Given the description of an element on the screen output the (x, y) to click on. 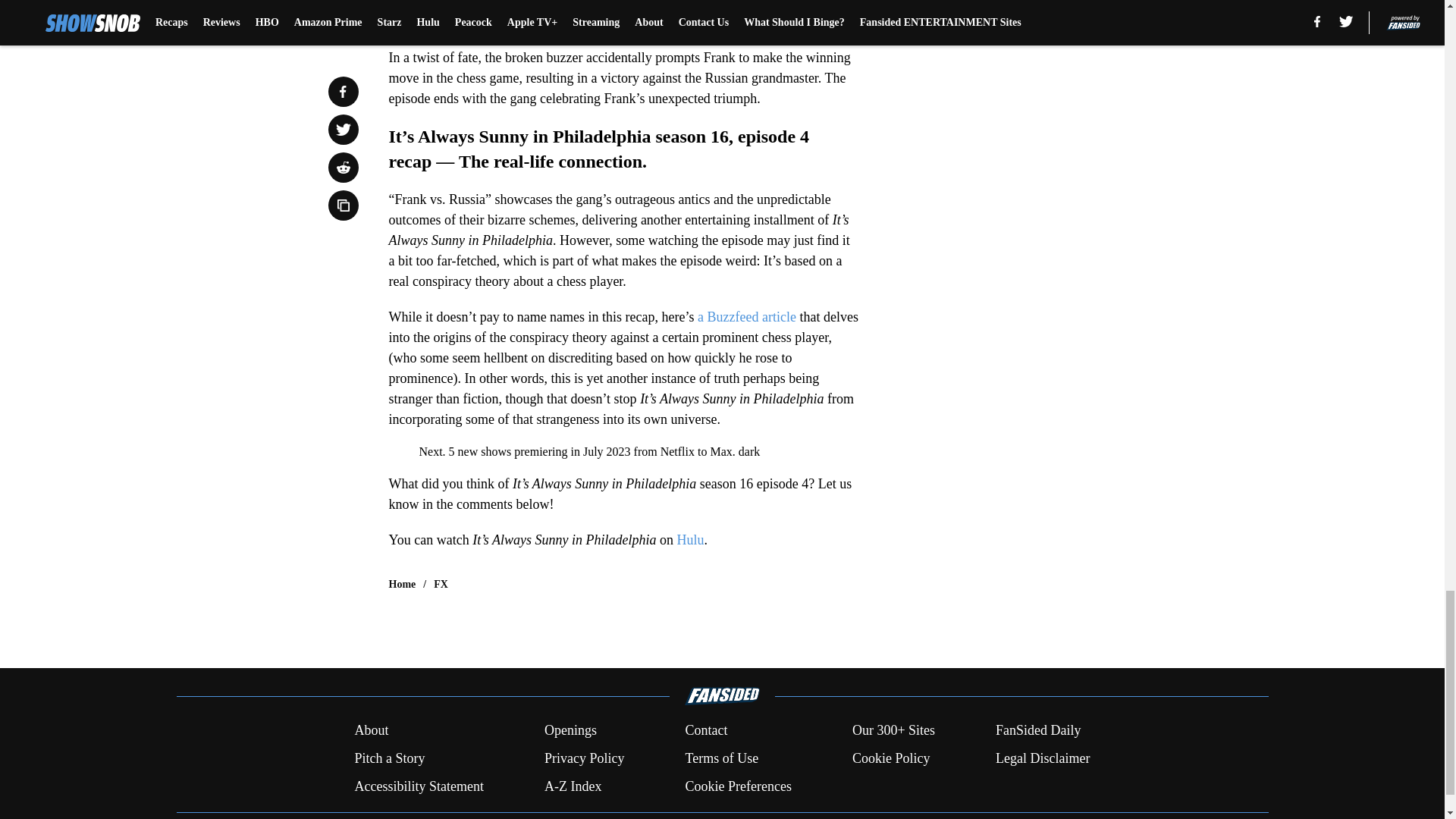
FanSided Daily (1038, 730)
Accessibility Statement (418, 786)
About (370, 730)
Contact (705, 730)
Pitch a Story (389, 758)
a Buzzfeed article (746, 316)
 Hulu (688, 539)
FX (440, 584)
Home (401, 584)
Legal Disclaimer (1042, 758)
